Given the description of an element on the screen output the (x, y) to click on. 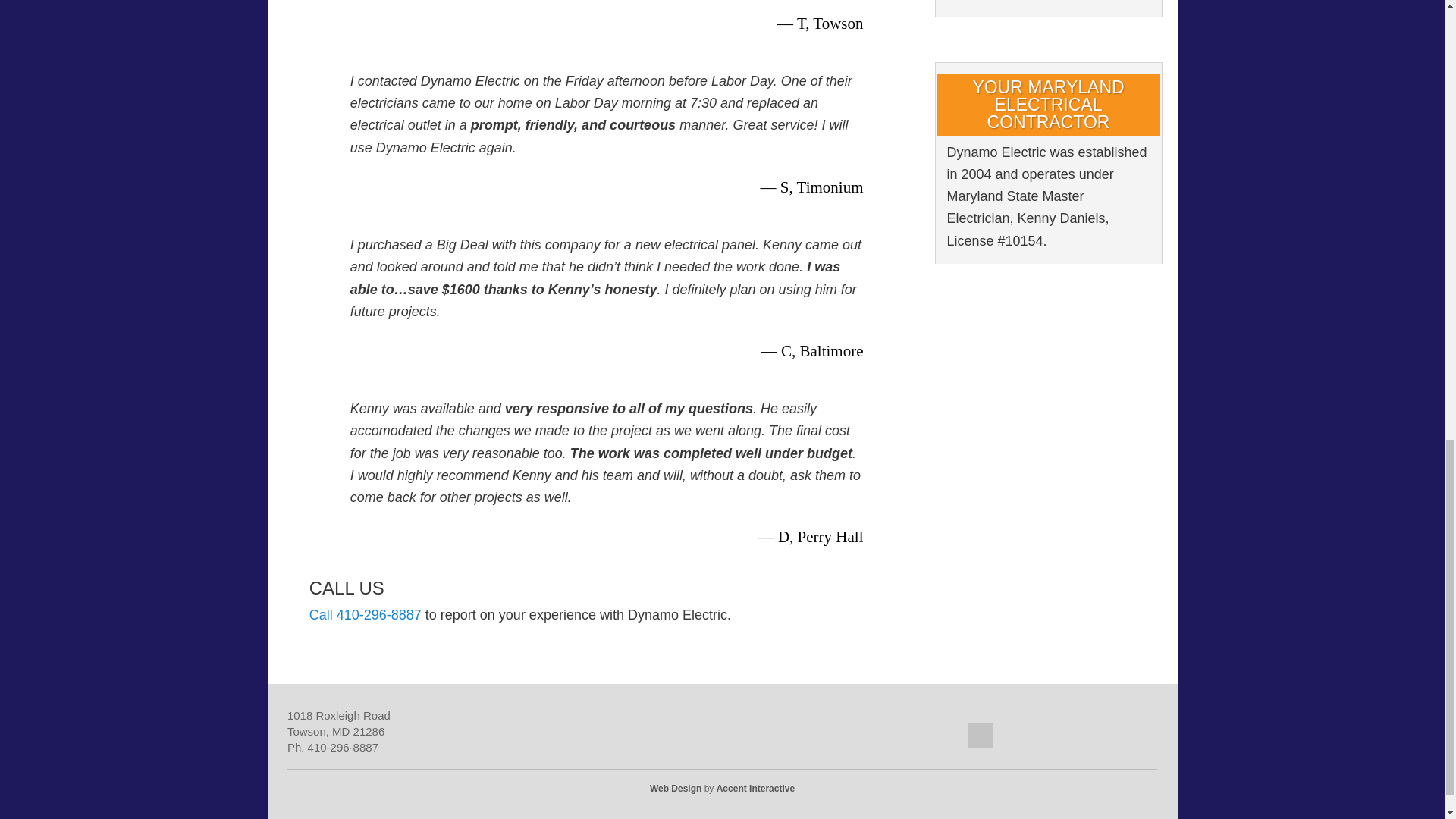
Call 410-296-8887 (365, 614)
Towson Chamber of Commerce (1042, 734)
Facebook (1123, 734)
Accent Interactive (755, 787)
Web Design (676, 787)
